Given the description of an element on the screen output the (x, y) to click on. 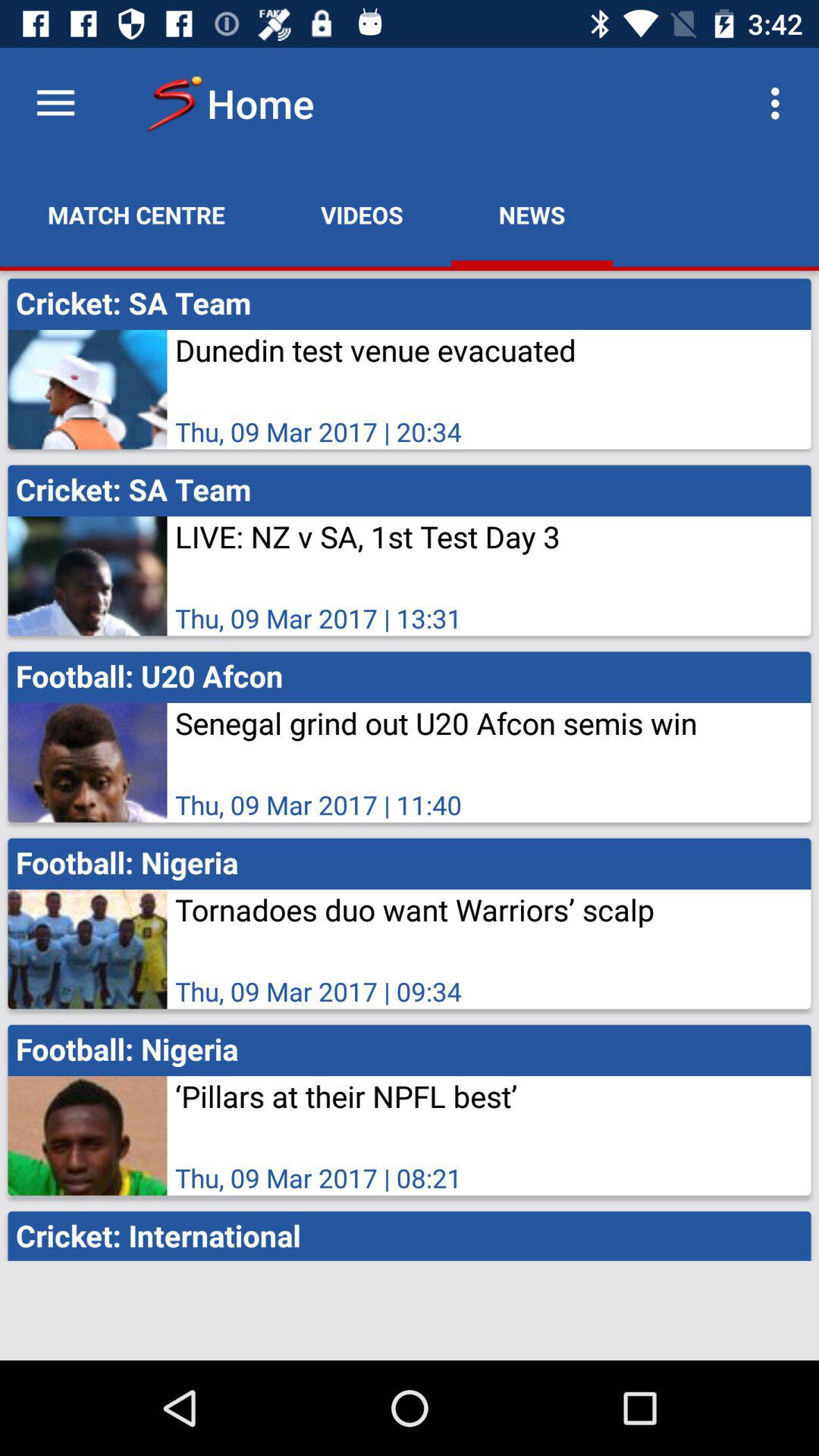
choose icon to the right of match centre icon (362, 214)
